Given the description of an element on the screen output the (x, y) to click on. 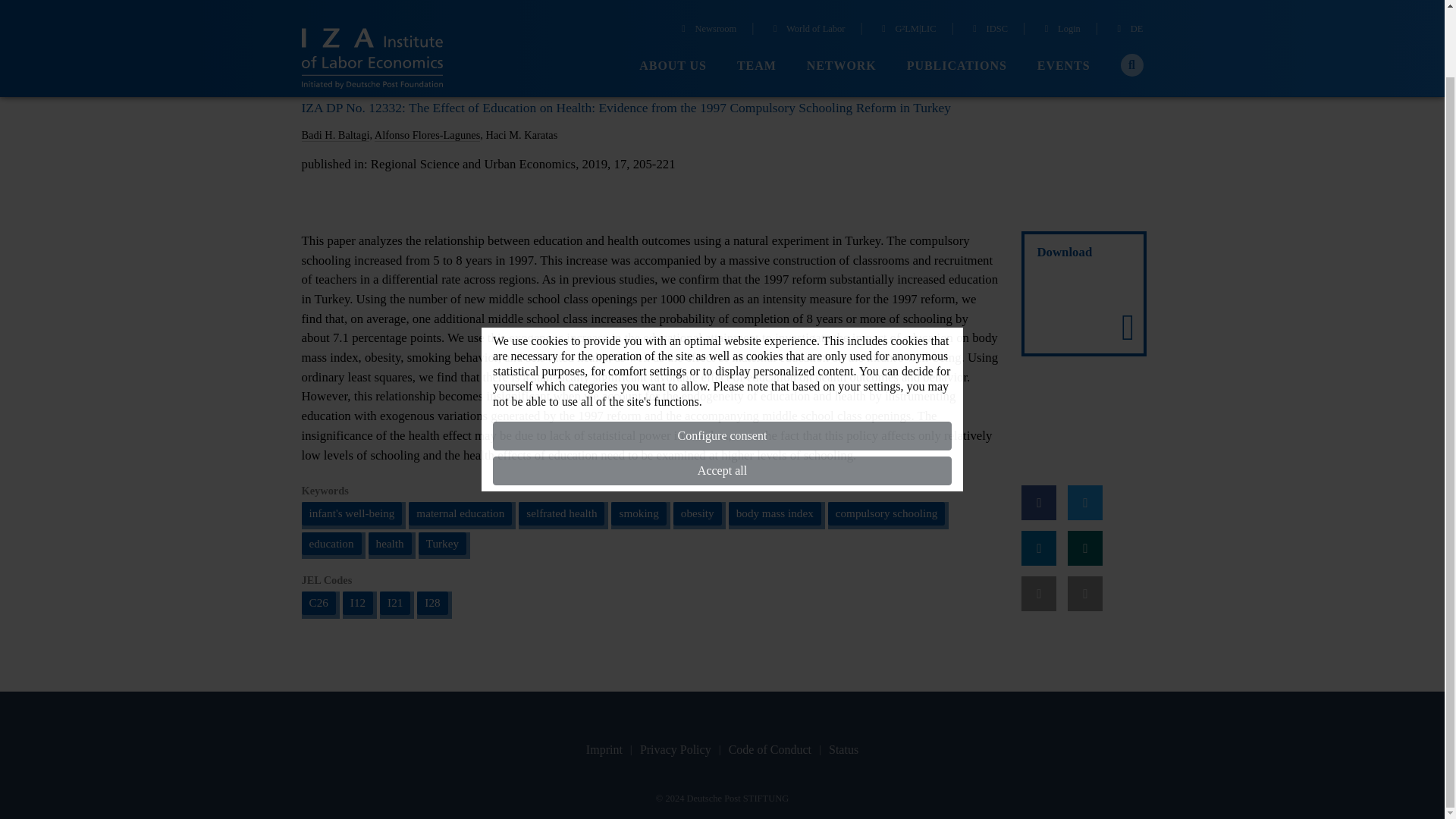
EVENTS (1063, 0)
PUBLICATIONS (957, 0)
ABOUT US (672, 0)
TEAM (756, 0)
NETWORK (841, 0)
